Given the description of an element on the screen output the (x, y) to click on. 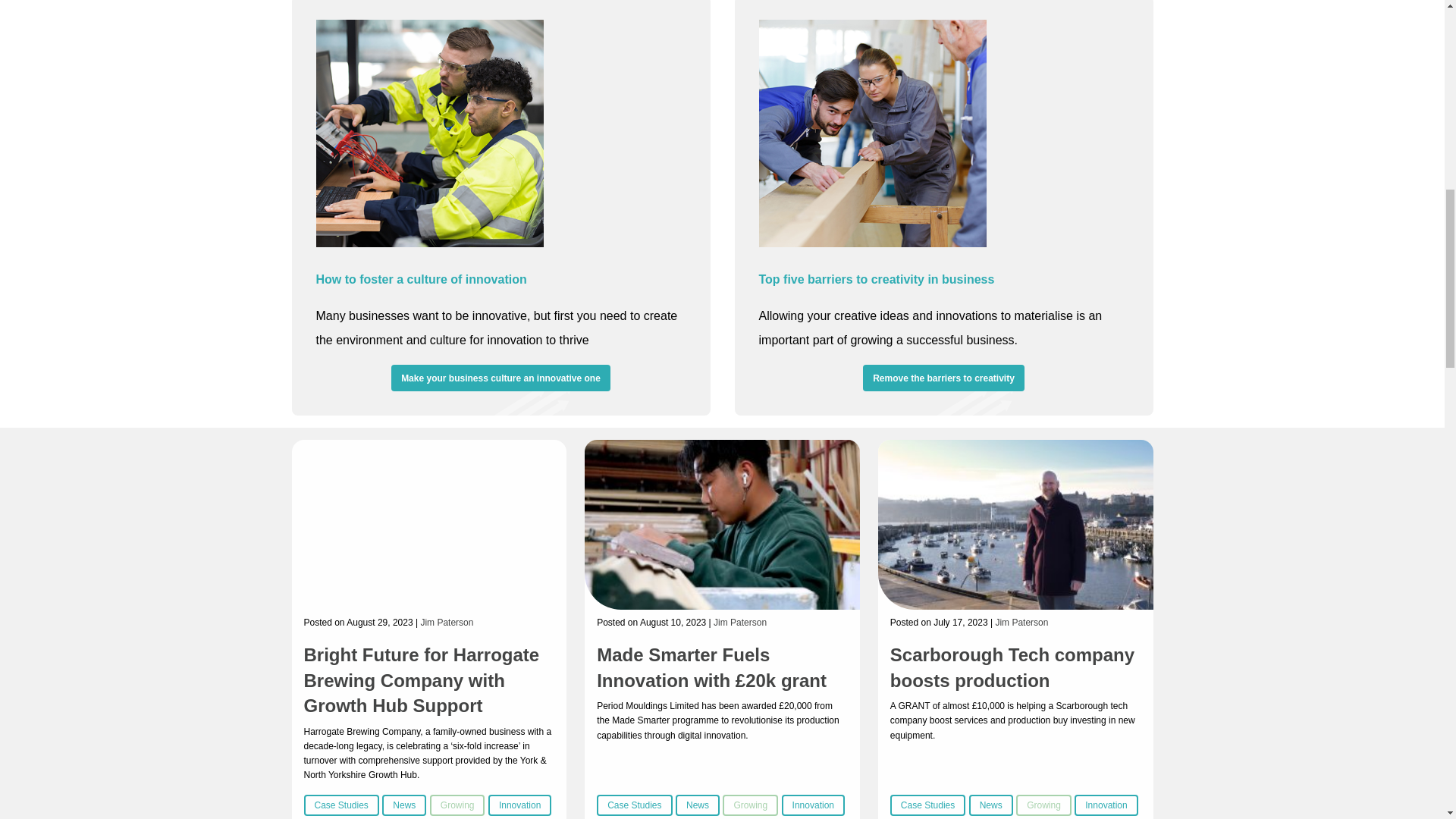
Posts by Jim Paterson (740, 622)
Posts by Jim Paterson (1021, 622)
Posts by Jim Paterson (446, 622)
